Given the description of an element on the screen output the (x, y) to click on. 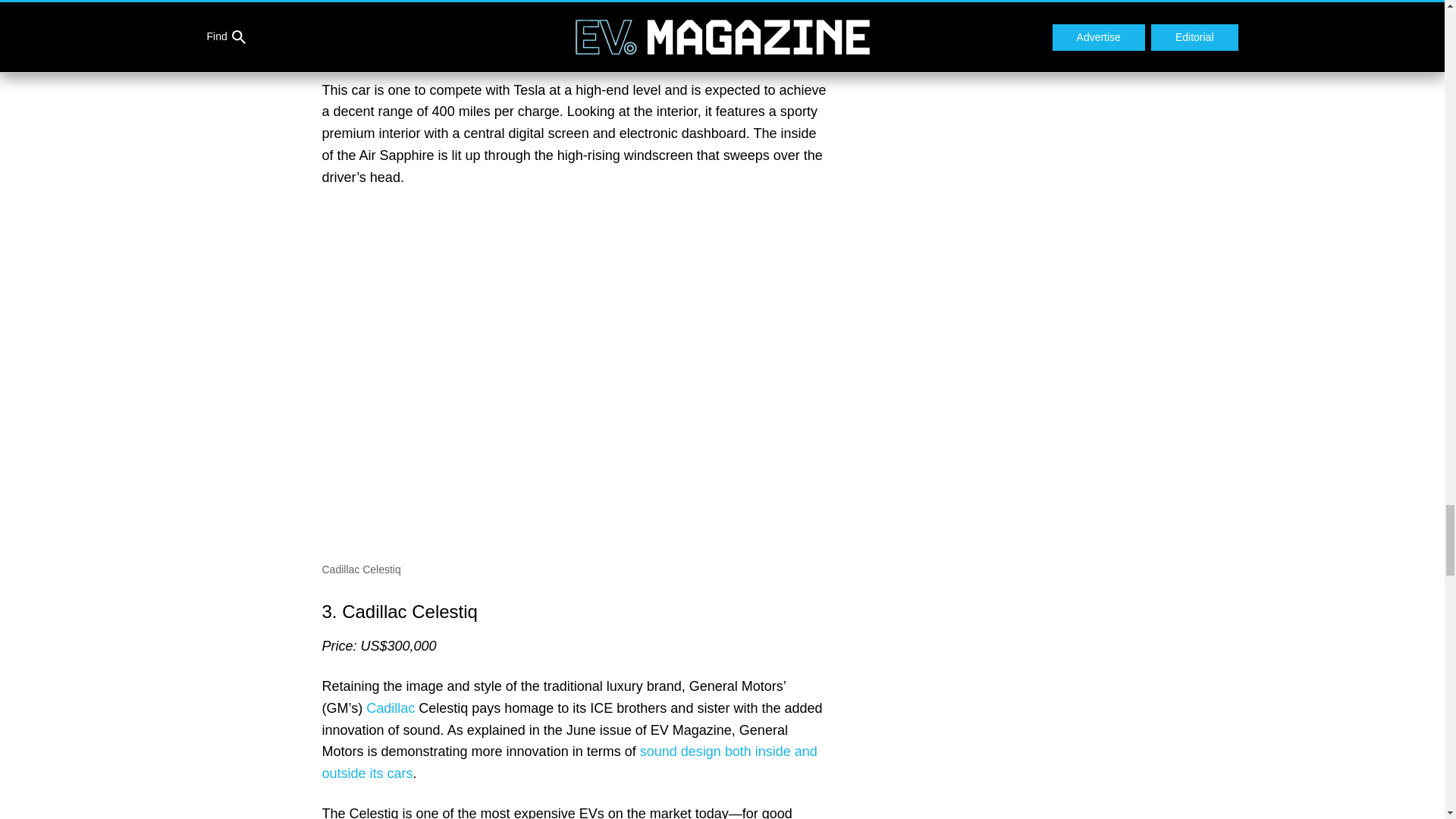
sound design both inside and outside its cars (568, 762)
Cadillac (390, 708)
